Given the description of an element on the screen output the (x, y) to click on. 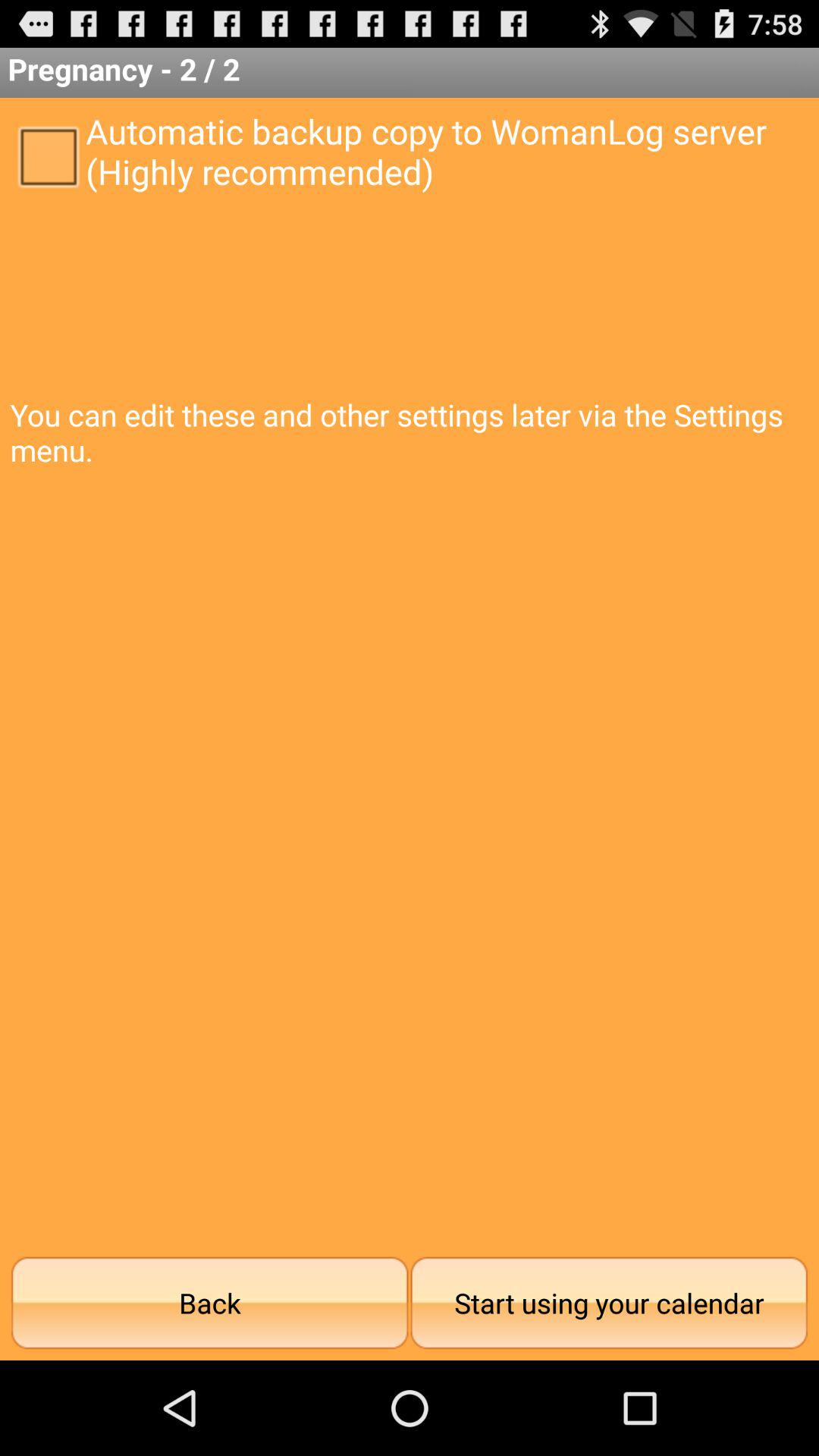
jump to the back icon (209, 1302)
